Given the description of an element on the screen output the (x, y) to click on. 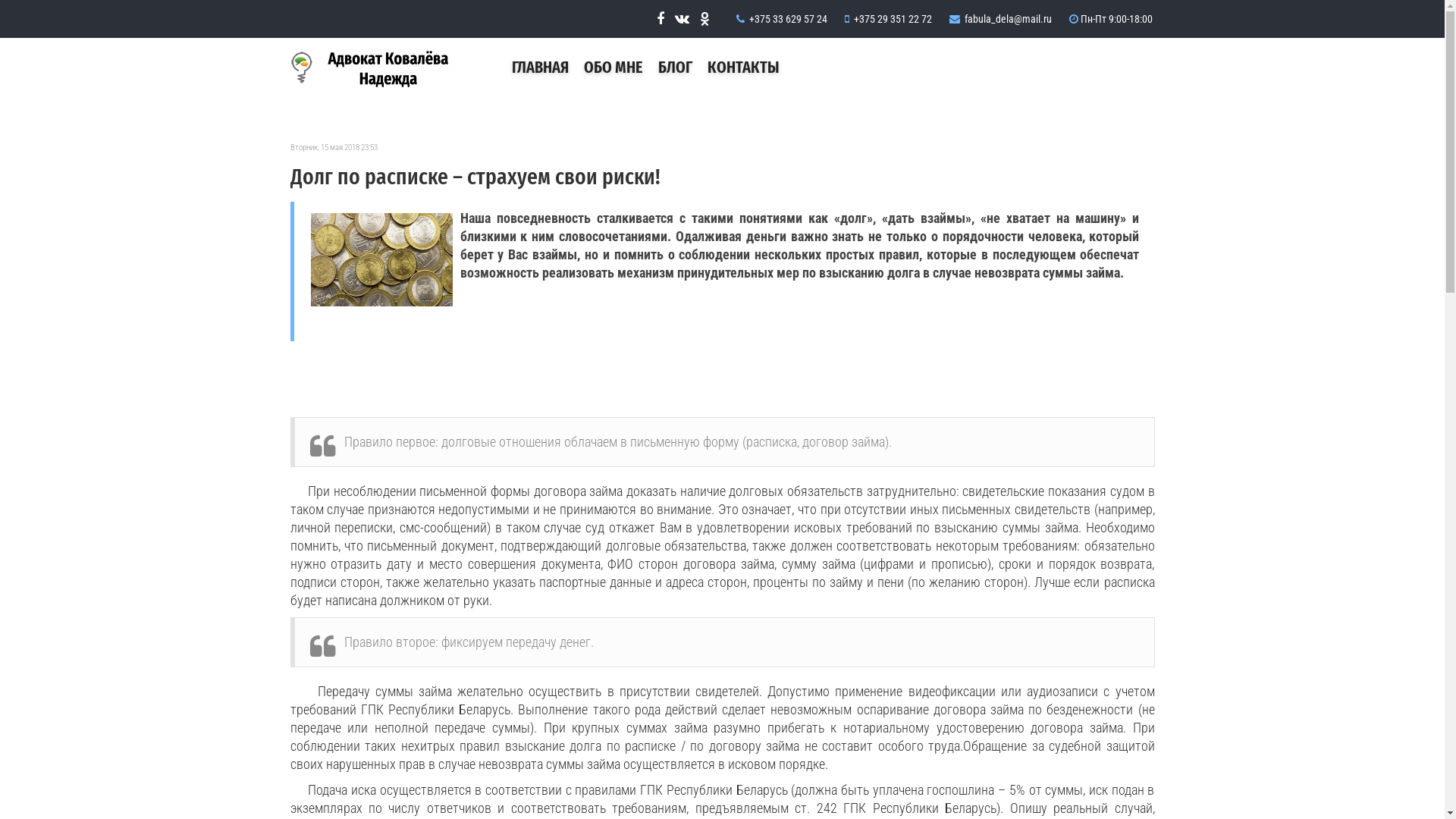
fabula_dela@mail.ru Element type: text (1007, 18)
+375 29 351 22 72 Element type: text (892, 18)
+375 33 629 57 24 Element type: text (788, 18)
